Given the description of an element on the screen output the (x, y) to click on. 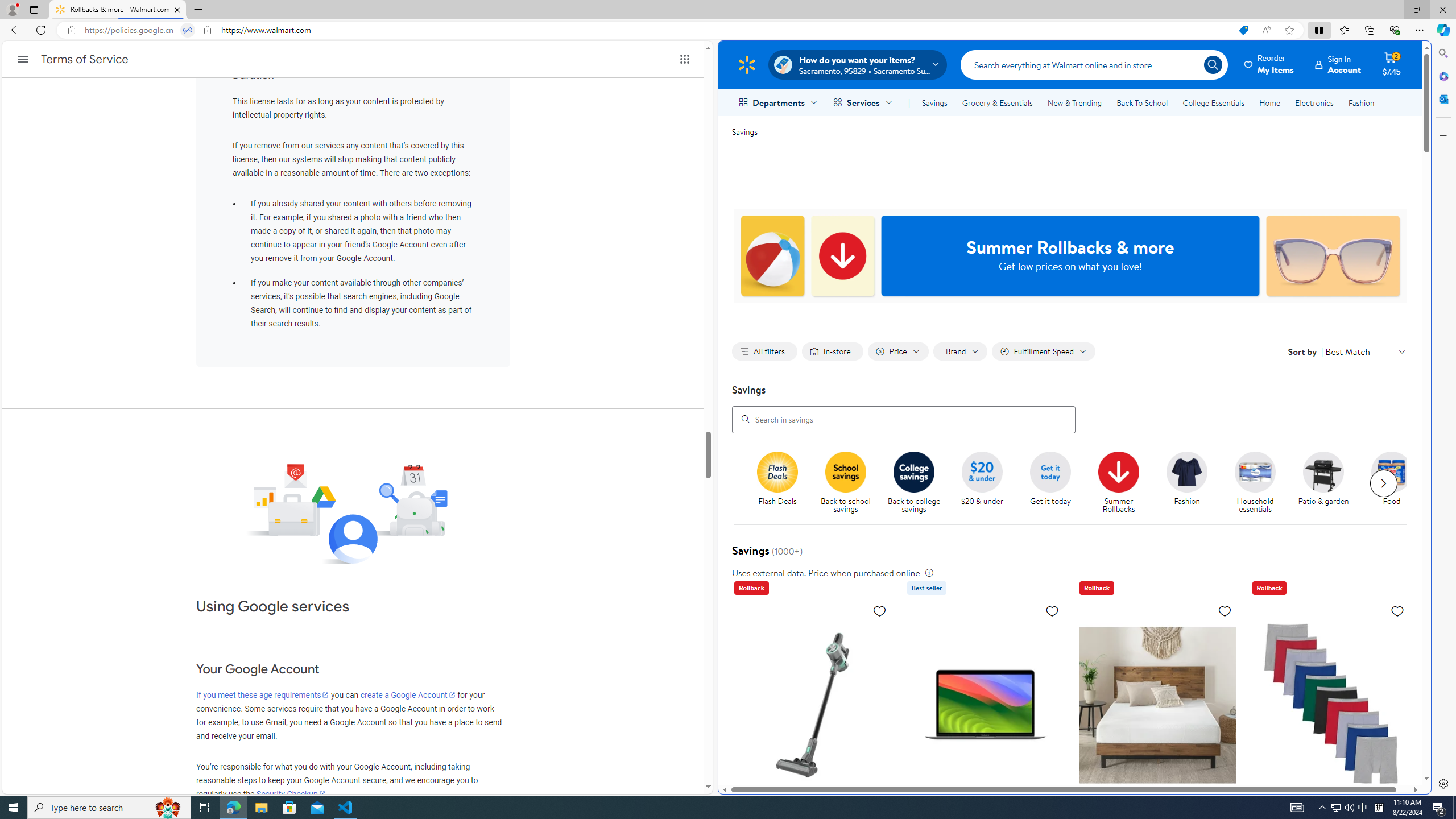
Close tab (176, 9)
Flash deals (777, 471)
New & Trending (1075, 102)
Refresh (40, 29)
Flash deals Flash Deals (777, 478)
Summer Rollbacks (1123, 483)
Flash Deals (782, 483)
